Given the description of an element on the screen output the (x, y) to click on. 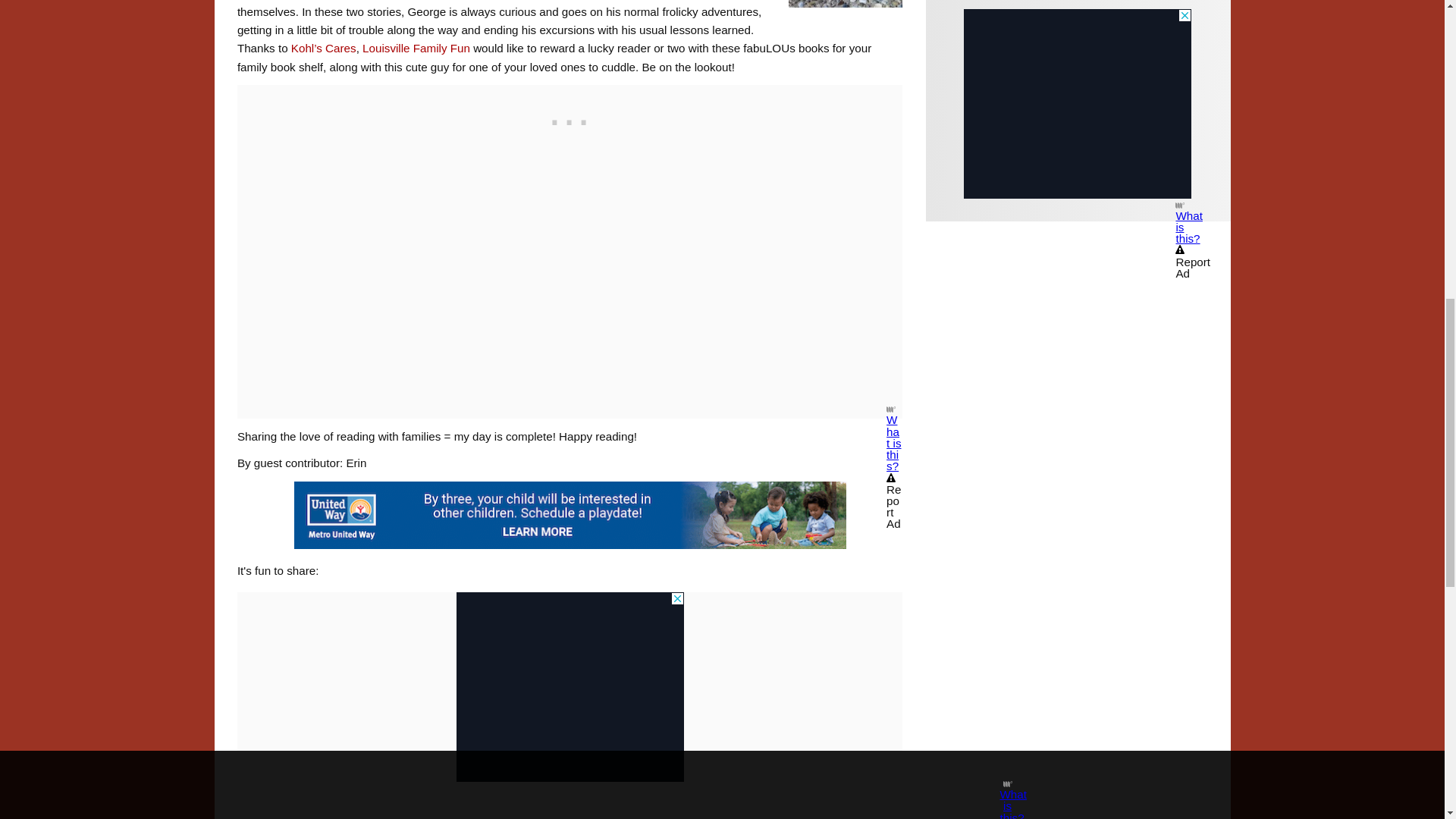
Louisville Family Fun (416, 47)
3rd party ad content (1077, 104)
3rd party ad content (570, 687)
3rd party ad content (569, 119)
